Given the description of an element on the screen output the (x, y) to click on. 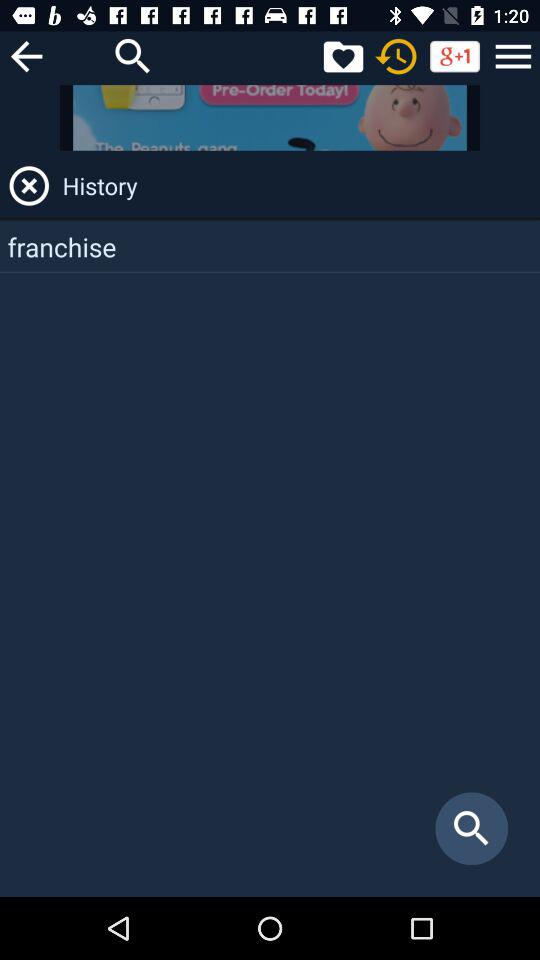
tap item at the bottom right corner (471, 828)
